Given the description of an element on the screen output the (x, y) to click on. 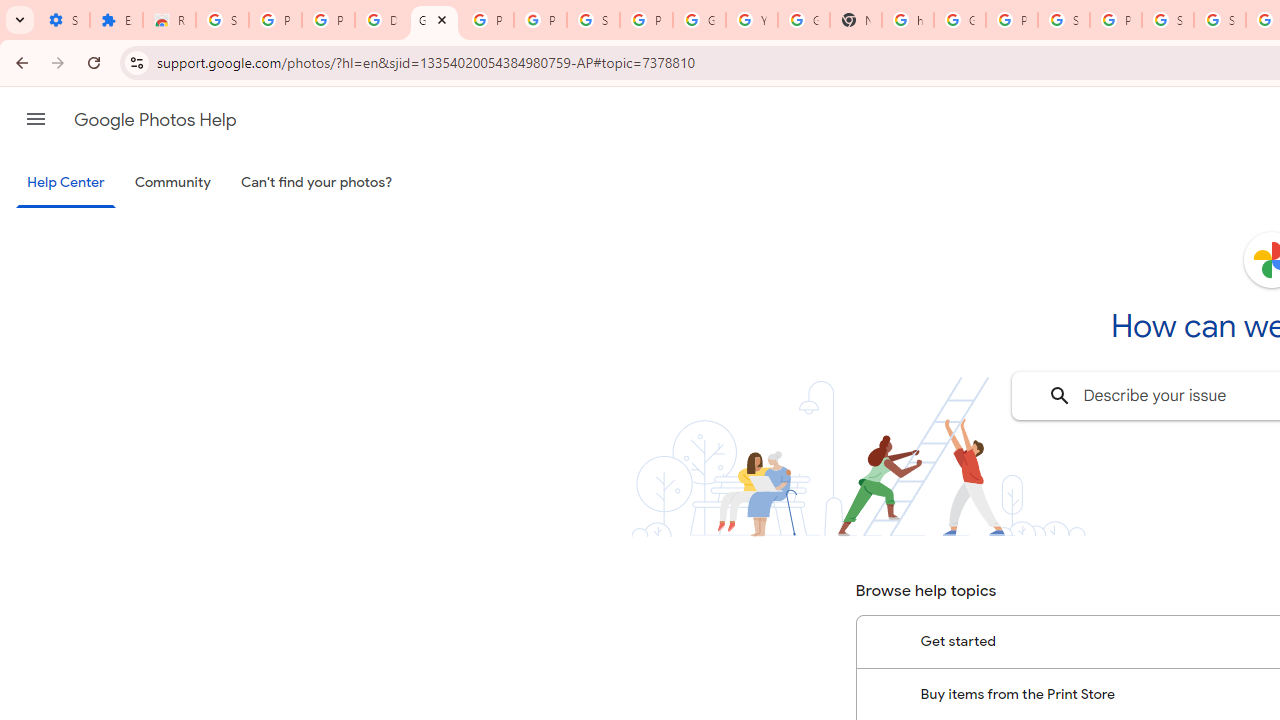
YouTube (751, 20)
Community (171, 183)
Reviews: Helix Fruit Jump Arcade Game (169, 20)
Help Center (65, 183)
